Given the description of an element on the screen output the (x, y) to click on. 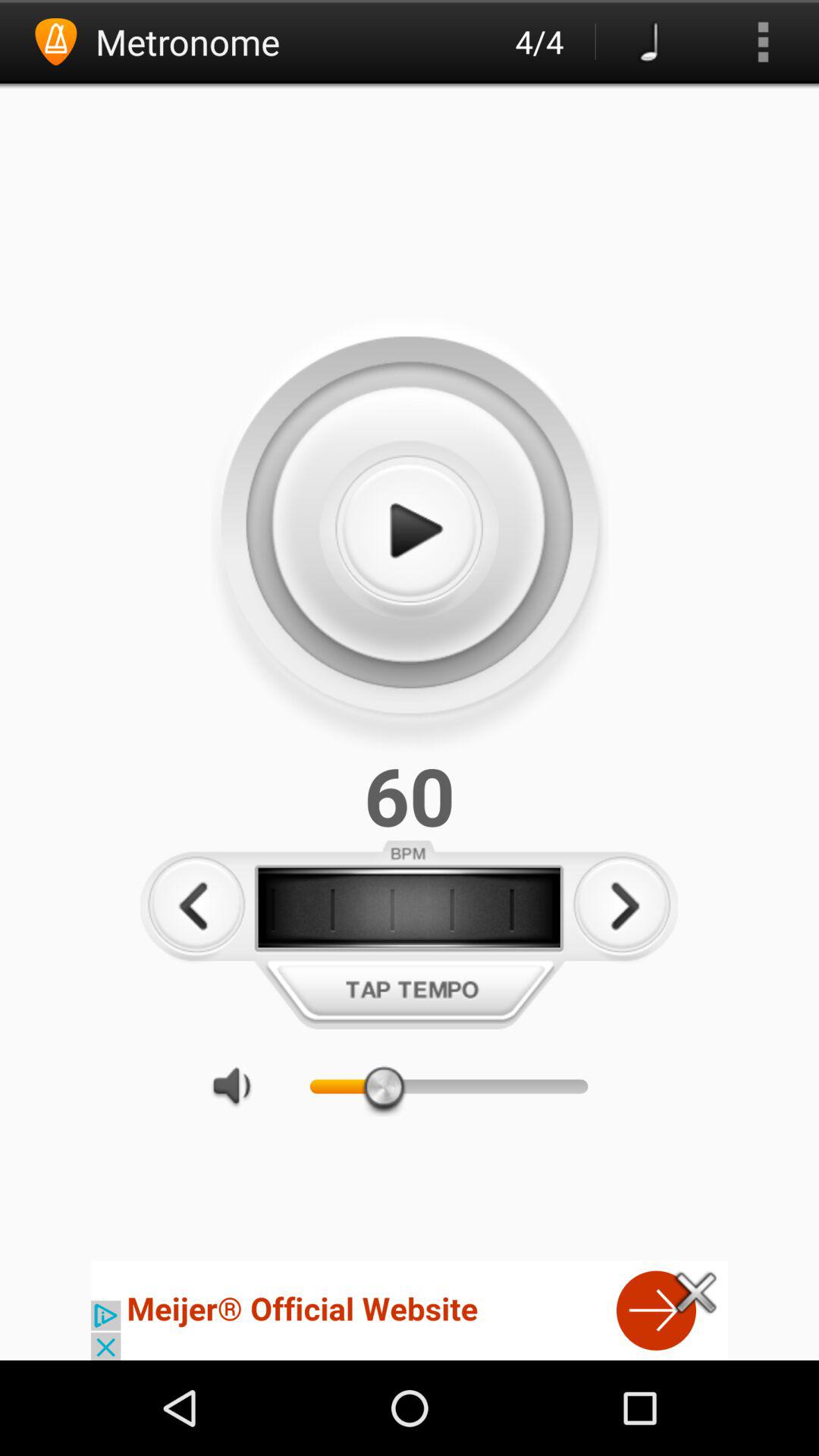
exit button (696, 1292)
